Given the description of an element on the screen output the (x, y) to click on. 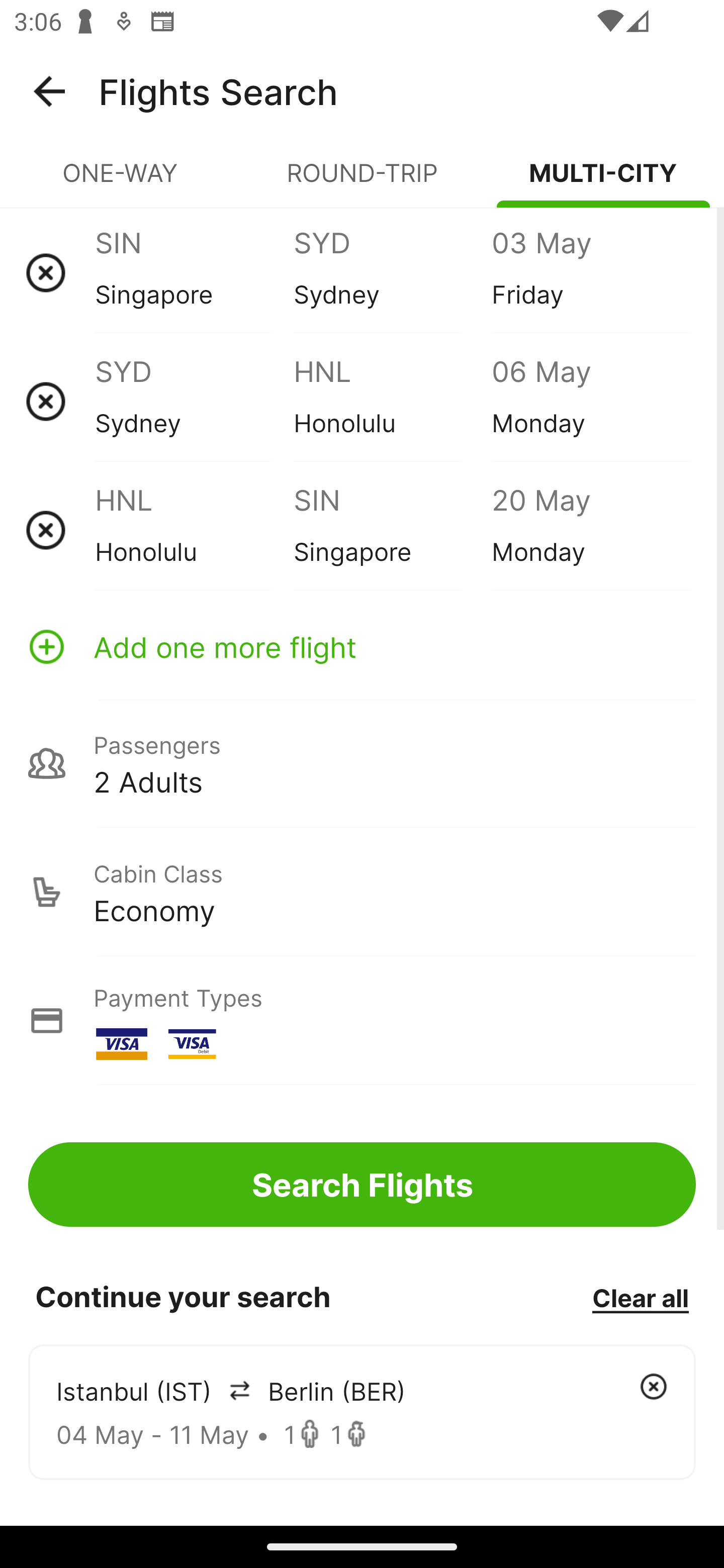
ONE-WAY (120, 180)
ROUND-TRIP (361, 180)
MULTI-CITY (603, 180)
SIN Singapore (193, 272)
SYD Sydney (392, 272)
03 May Friday (590, 272)
SYD Sydney (193, 401)
HNL Honolulu (392, 401)
06 May Monday (590, 401)
HNL Honolulu (193, 529)
SIN Singapore (392, 529)
20 May Monday (590, 529)
Add one more flight (362, 646)
Passengers 2 Adults (362, 762)
Cabin Class Economy (362, 891)
Payment Types (362, 1020)
Search Flights (361, 1184)
Clear all (640, 1297)
